Given the description of an element on the screen output the (x, y) to click on. 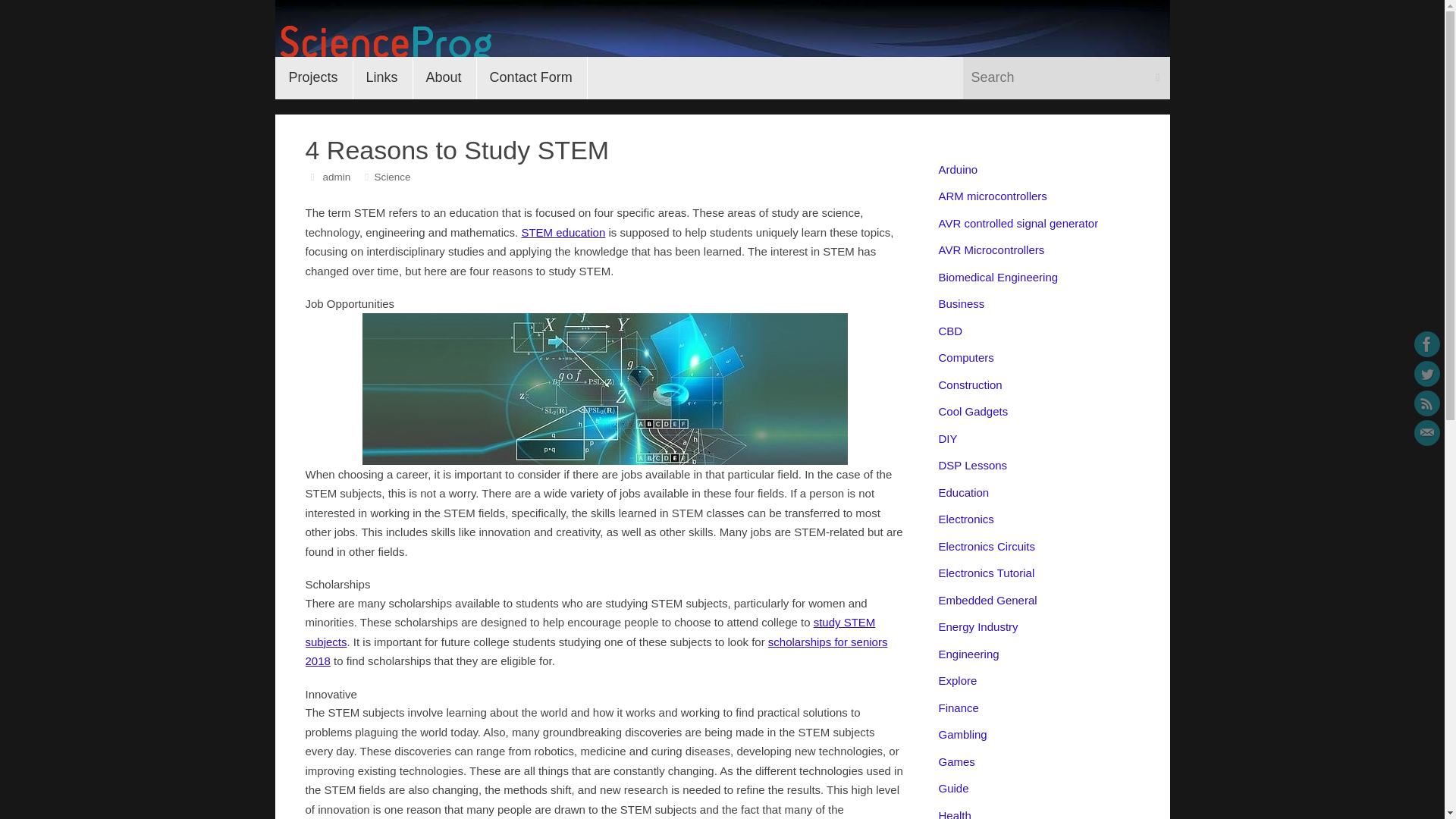
Contact Form (531, 77)
View all posts by admin (335, 176)
AVR Microcontrollers (992, 249)
STEM education (563, 232)
Facebook (1426, 344)
Biomedical Engineering (998, 277)
scholarships for seniors 2018 (595, 651)
Cool Gadgets (974, 410)
Computers (966, 357)
Business (962, 303)
Arduino (958, 169)
Twitter (1426, 373)
Projects (313, 77)
3rd party ad content (998, 38)
AVR controlled signal generator (1019, 223)
